Given the description of an element on the screen output the (x, y) to click on. 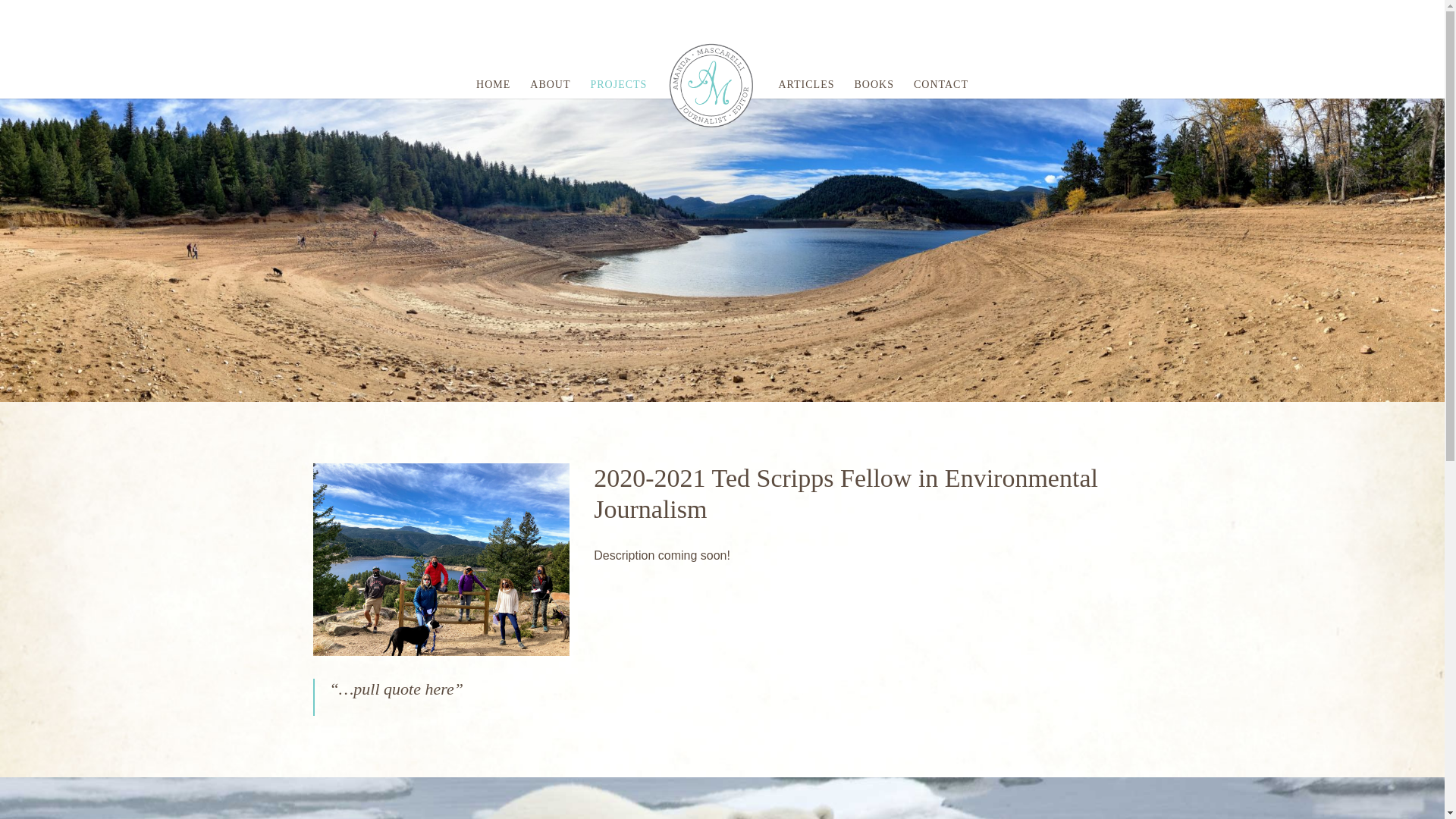
CONTACT (941, 108)
PROJECTS (617, 108)
Cover of the Science Writers' Handbook (441, 651)
Cover of the Science Writers' Handbook (441, 559)
ARTICLES (805, 108)
